Given the description of an element on the screen output the (x, y) to click on. 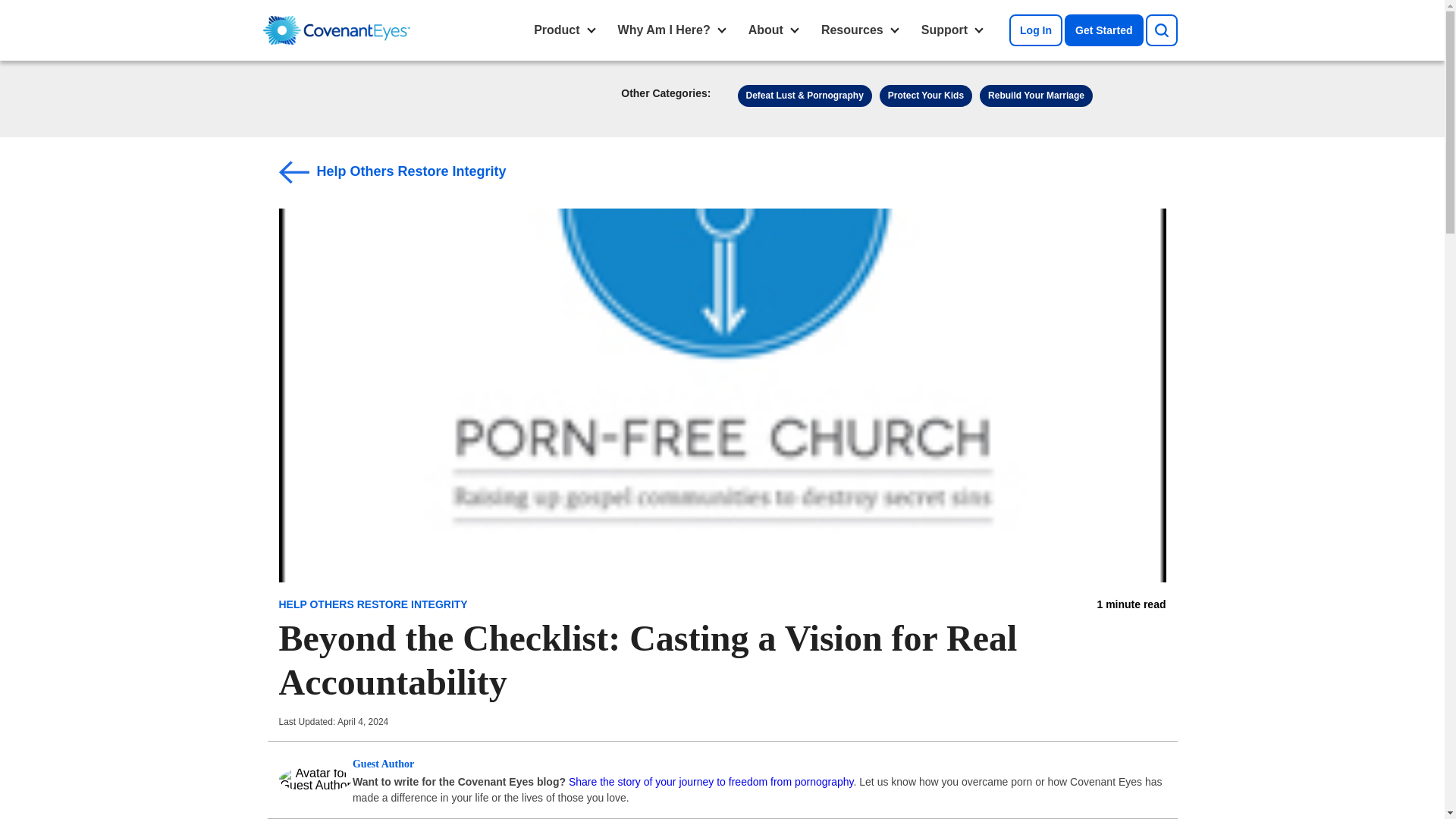
Open menu (894, 29)
Product (556, 30)
Resources (851, 30)
Why Am I Here? (664, 30)
About (765, 30)
Open menu (721, 29)
Open menu (794, 29)
Support (944, 30)
Open menu (590, 29)
